Given the description of an element on the screen output the (x, y) to click on. 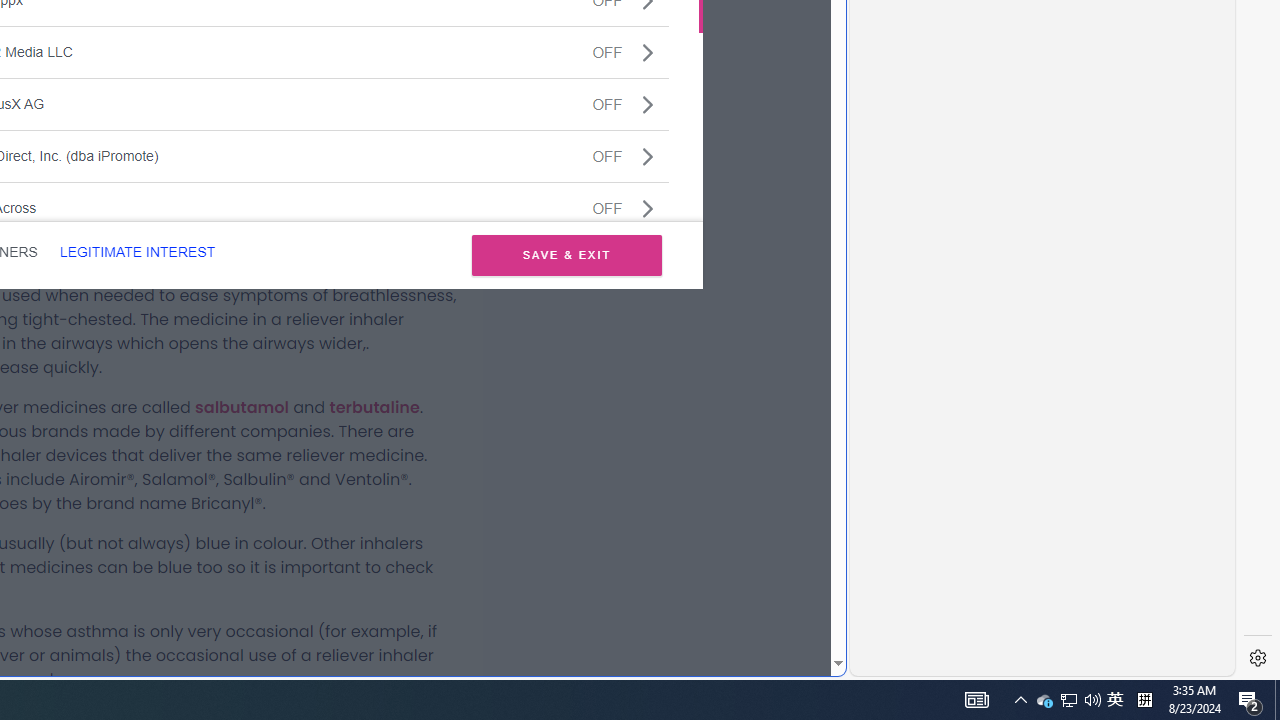
SAVE & EXIT (566, 254)
salbutamol (241, 407)
Class: css-jswnc6 (648, 208)
terbutaline (373, 407)
LEGITIMATE INTEREST (137, 251)
